Given the description of an element on the screen output the (x, y) to click on. 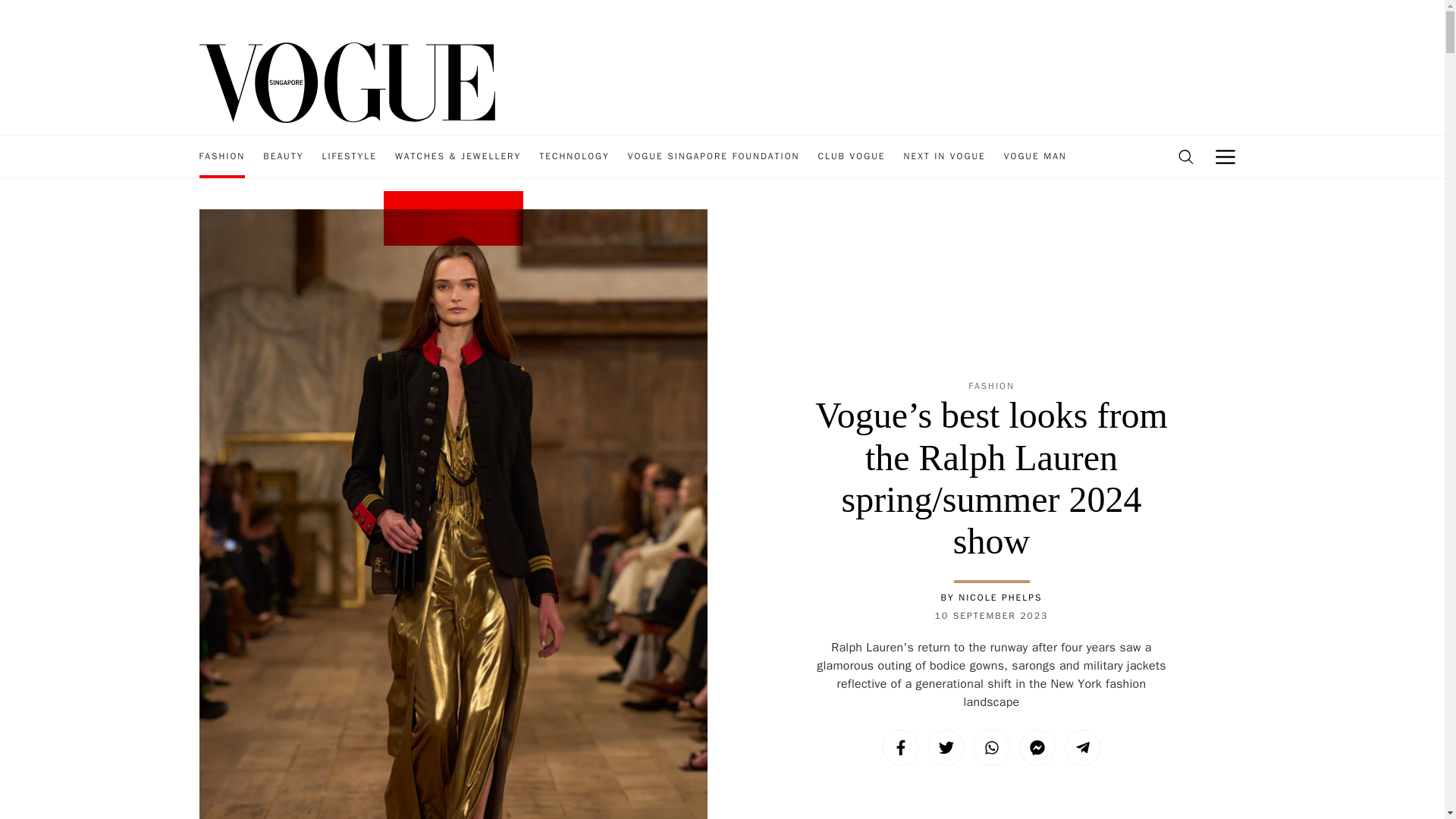
Vogue Singapore (346, 81)
Telegram (1082, 747)
Twitter (945, 747)
Facebook (900, 747)
FASHION (221, 156)
BEAUTY (282, 156)
WhatsApp (992, 747)
CLUB VOGUE (850, 156)
NICOLE PHELPS (1000, 597)
NEXT IN VOGUE (944, 156)
